Given the description of an element on the screen output the (x, y) to click on. 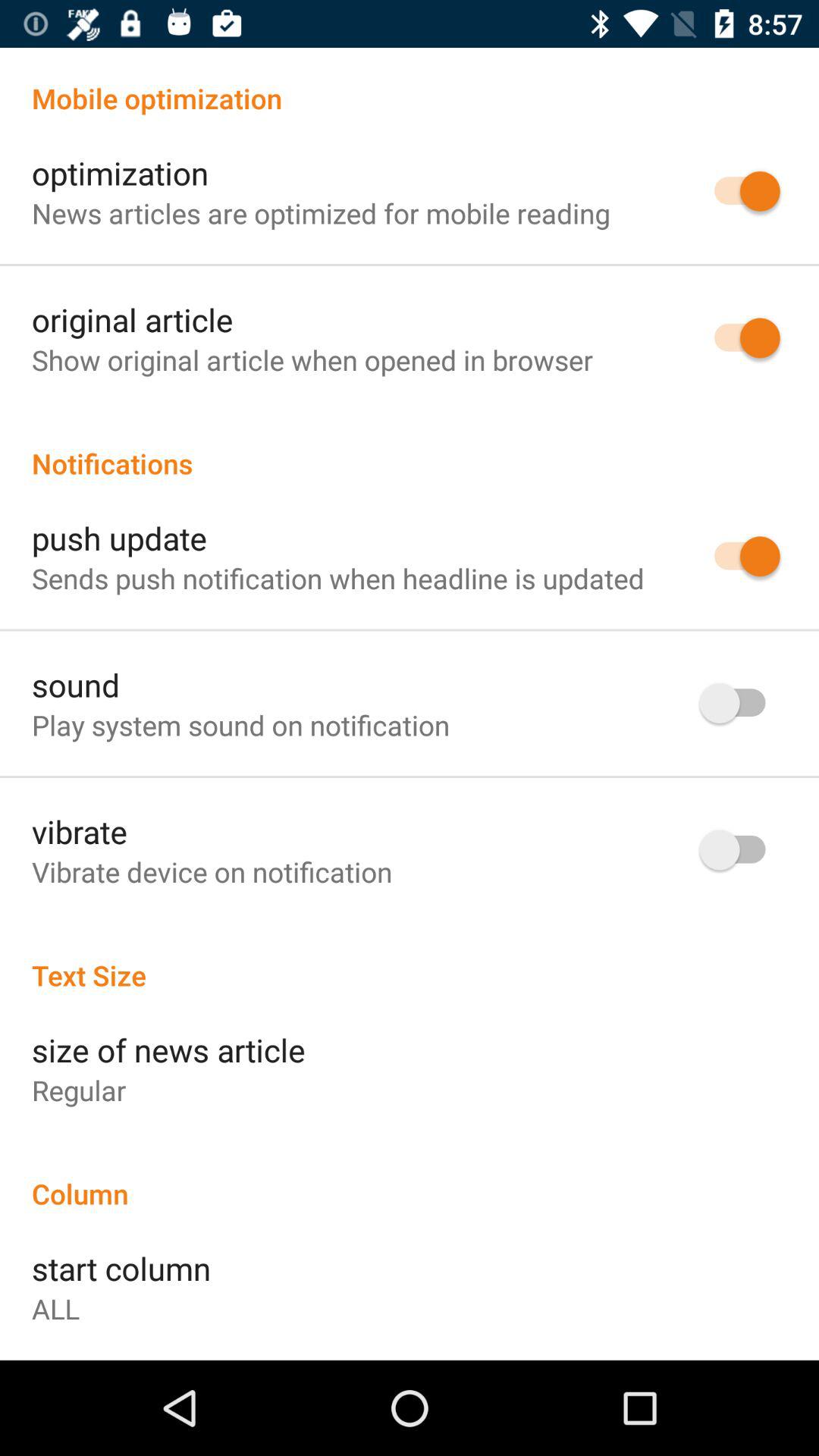
click the app above the original article icon (320, 213)
